Given the description of an element on the screen output the (x, y) to click on. 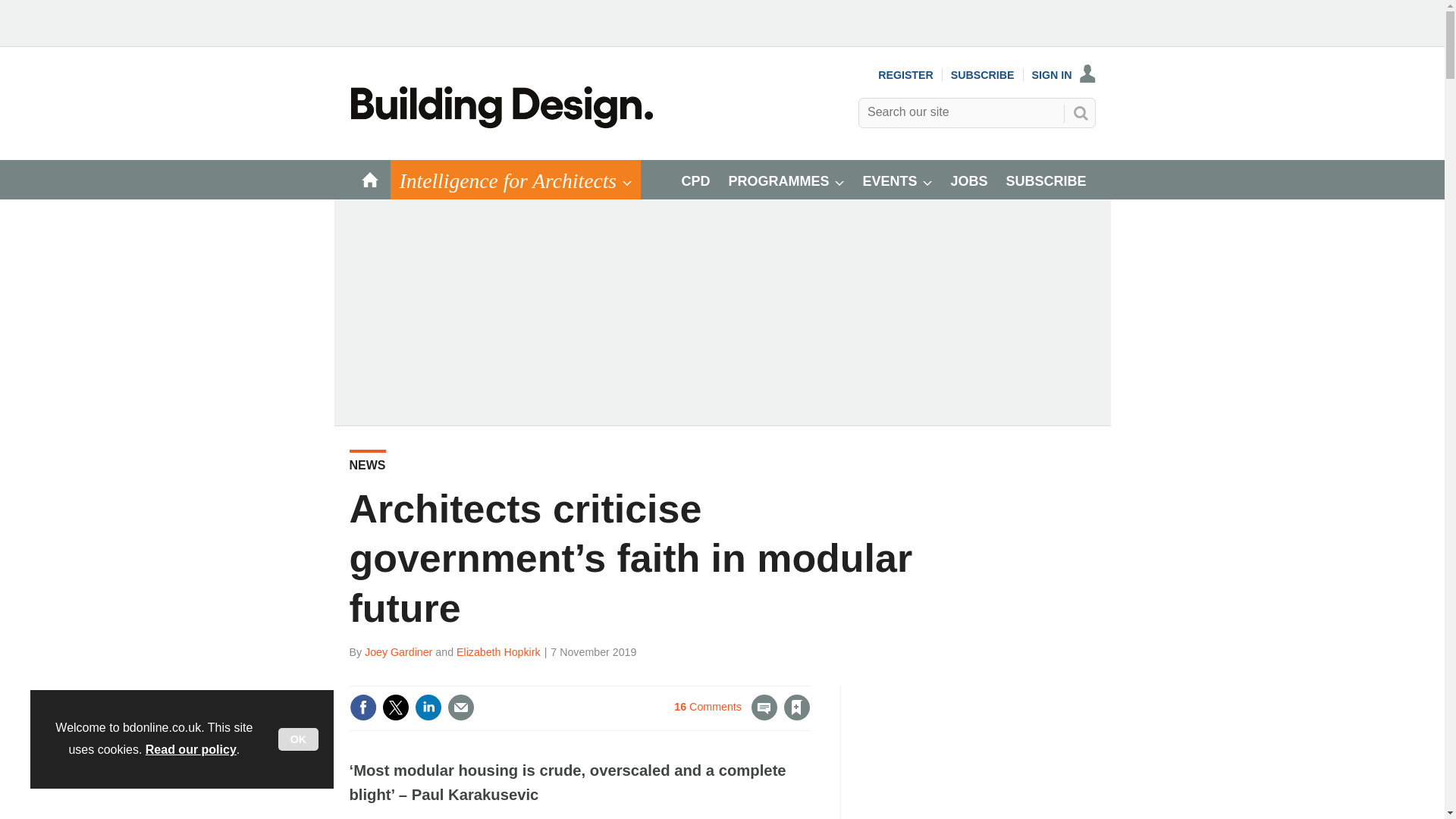
OK (298, 739)
SEARCH (1079, 112)
Share this on Facebook (362, 707)
Read our policy (190, 748)
Share this on Linked in (427, 707)
REGISTER (905, 74)
3rd party ad content (980, 752)
Email this article (460, 707)
SUBSCRIBE (982, 74)
Share this on Twitter (395, 707)
SIGN IN (1064, 74)
16 Comments (725, 716)
